Given the description of an element on the screen output the (x, y) to click on. 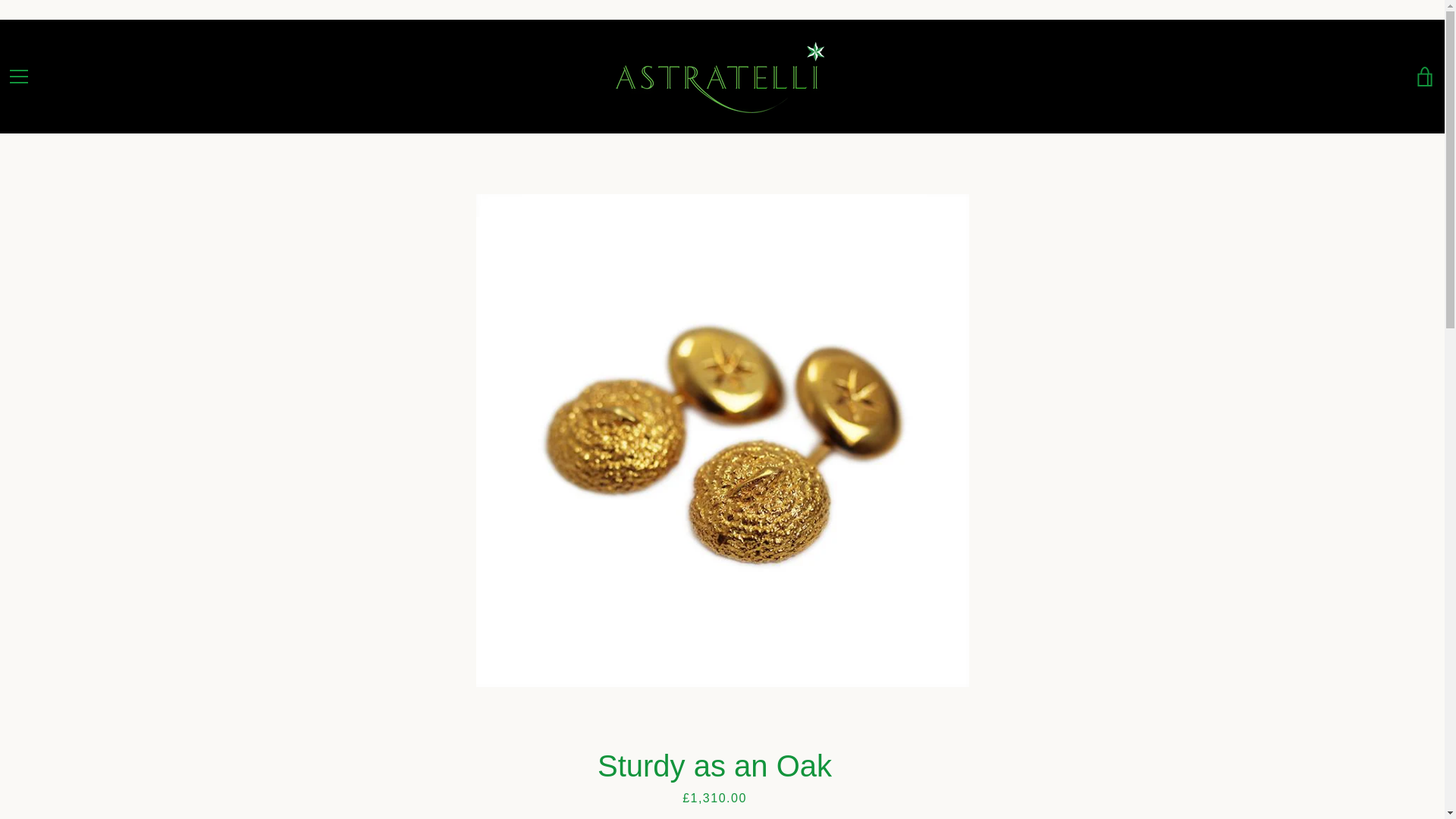
Astratelli on Instagram (59, 776)
Astratelli on Facebook (7, 776)
Twitter (33, 776)
EXPAND NAVIGATION (18, 76)
Ok (1405, 699)
Astratelli on Twitter (33, 776)
SEARCH (28, 659)
Facebook (7, 776)
Ok (1405, 699)
